Given the description of an element on the screen output the (x, y) to click on. 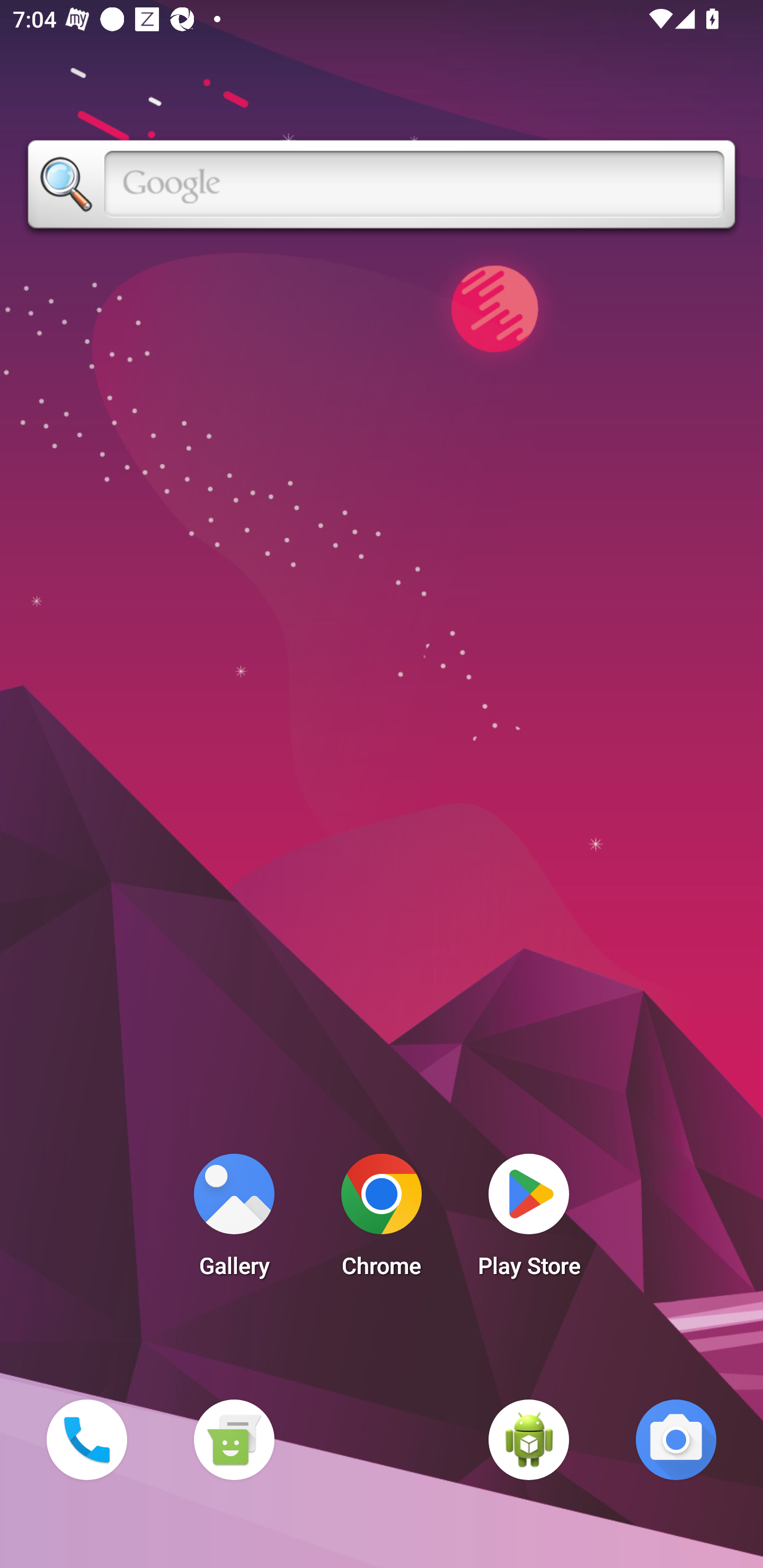
Gallery (233, 1220)
Chrome (381, 1220)
Play Store (528, 1220)
Phone (86, 1439)
Messaging (233, 1439)
WebView Browser Tester (528, 1439)
Camera (676, 1439)
